Given the description of an element on the screen output the (x, y) to click on. 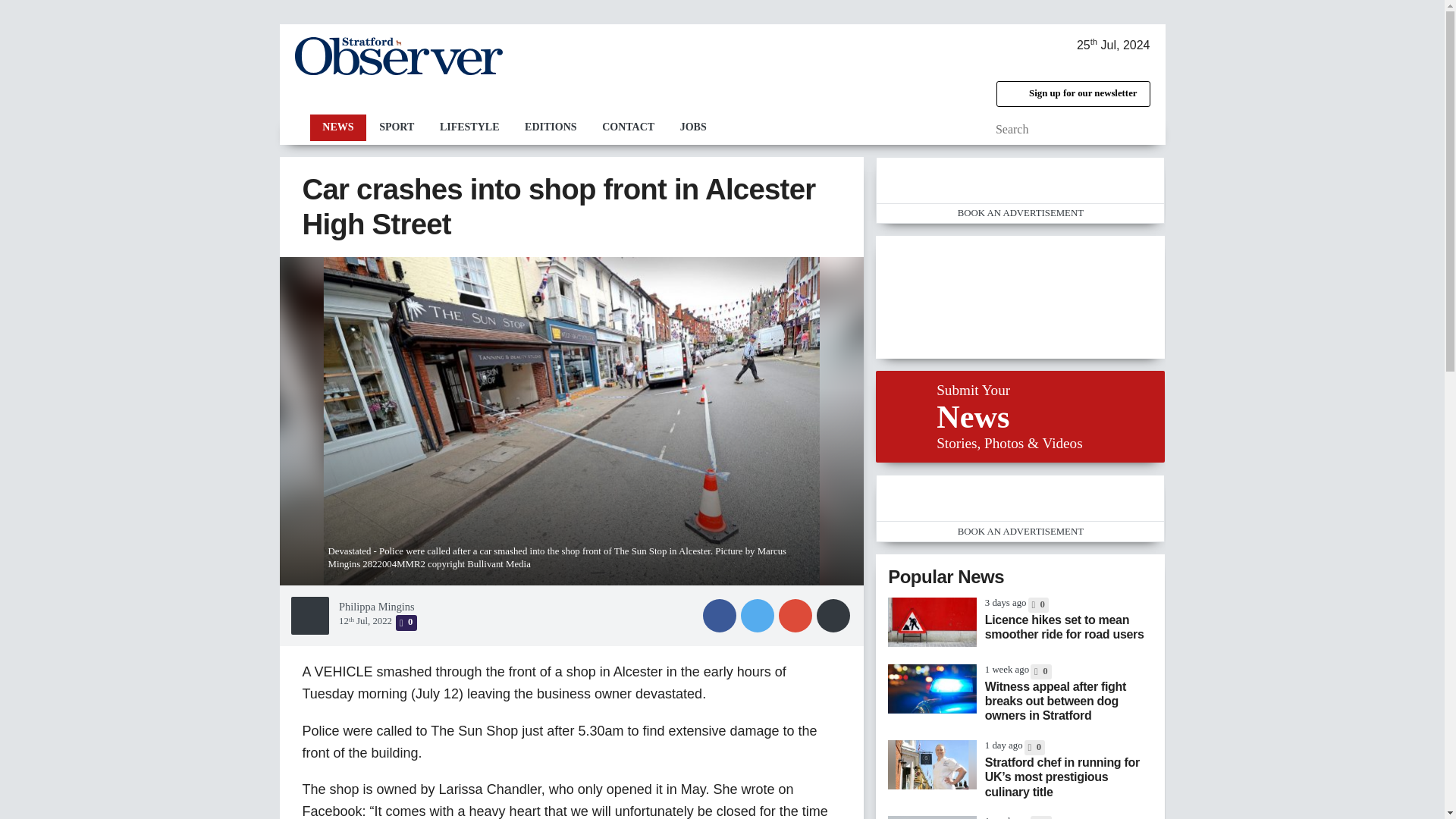
CONTACT (627, 127)
JOBS (692, 127)
SPORT (396, 127)
NEWS (337, 127)
EDITIONS (550, 127)
  Sign up for our newsletter (1072, 94)
The Stratford Observer (398, 55)
LIFESTYLE (469, 127)
